Given the description of an element on the screen output the (x, y) to click on. 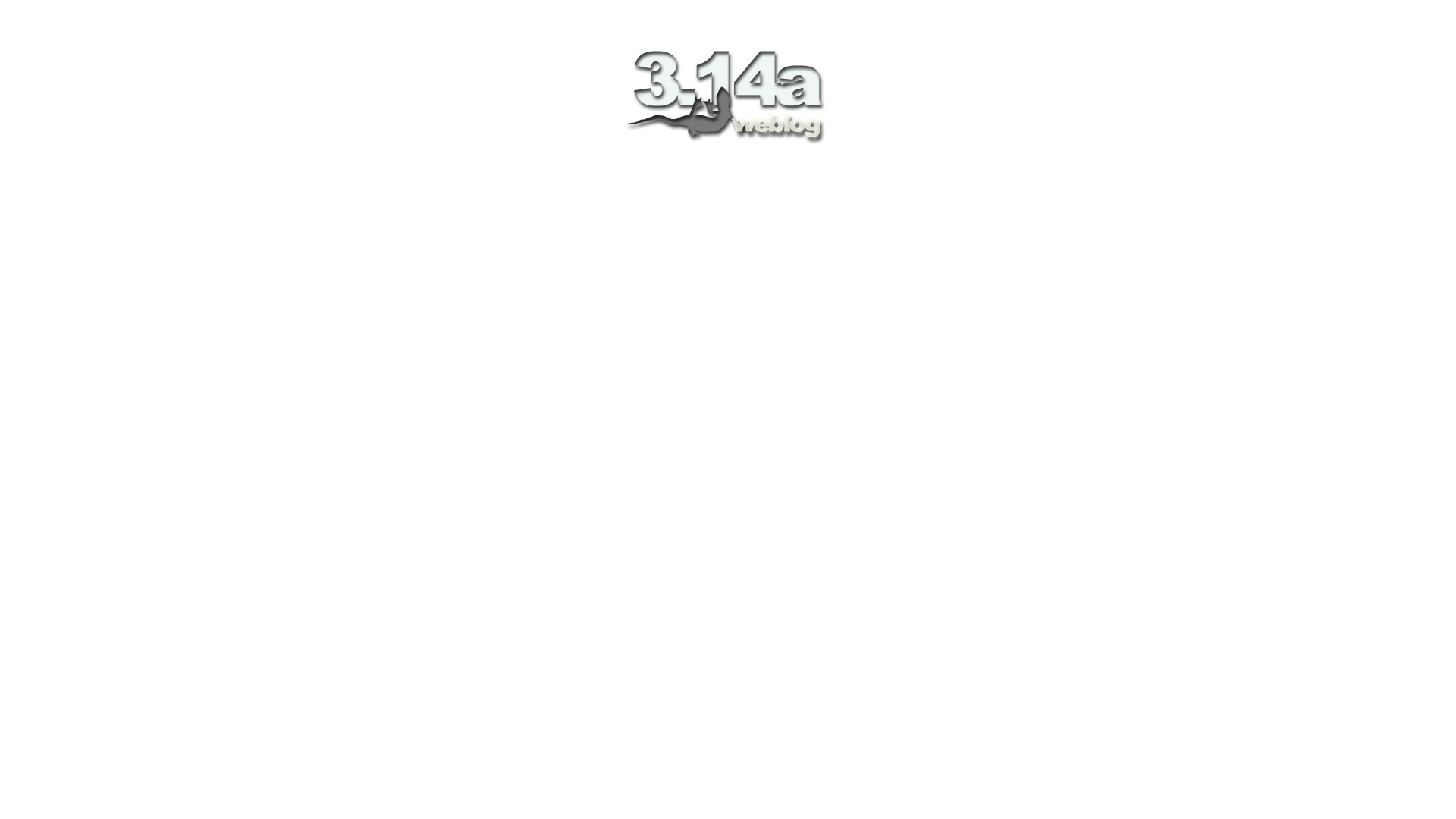
3.14a weblog Element type: hover (727, 96)
